Given the description of an element on the screen output the (x, y) to click on. 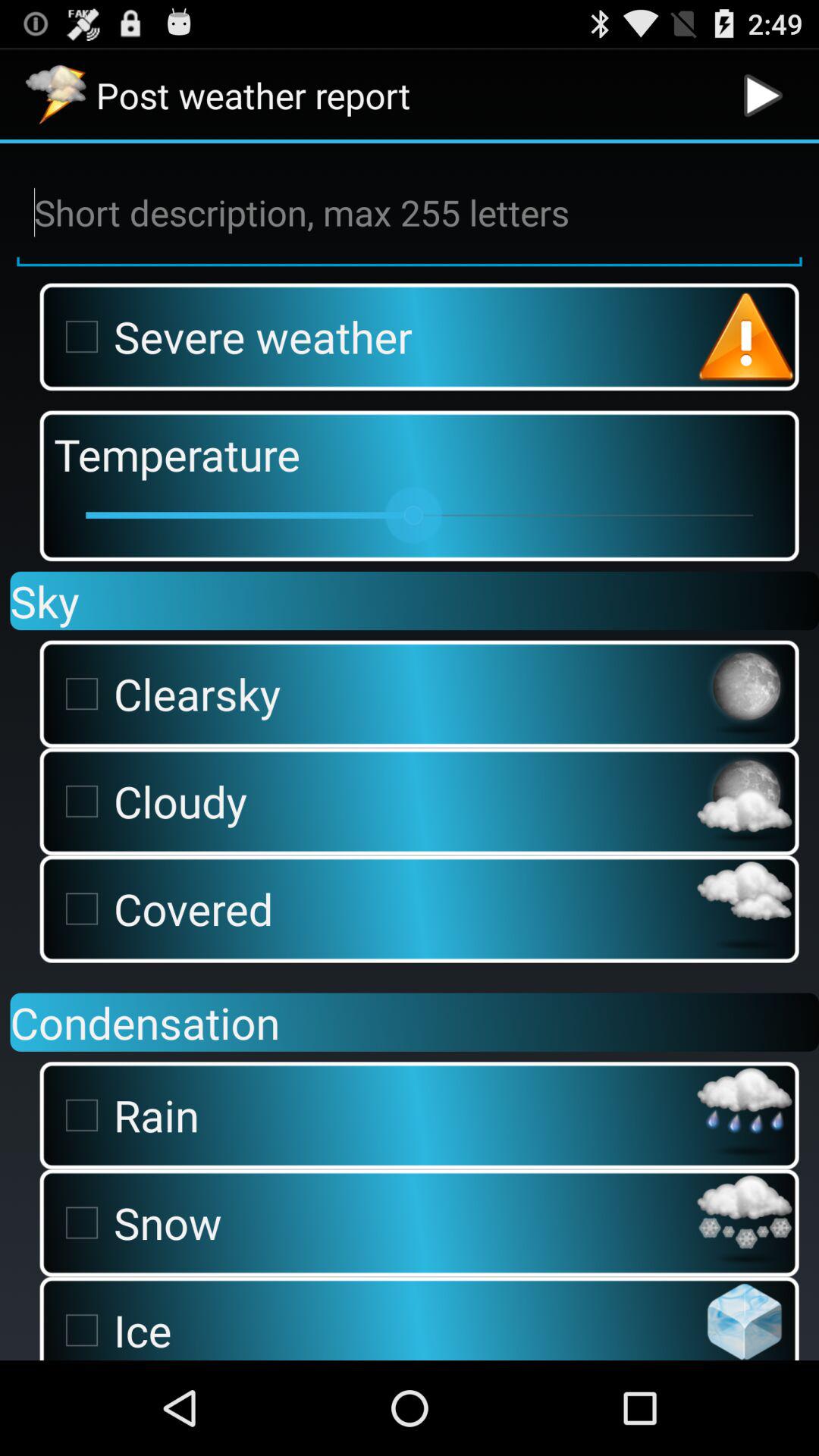
start the weather report (763, 95)
